Given the description of an element on the screen output the (x, y) to click on. 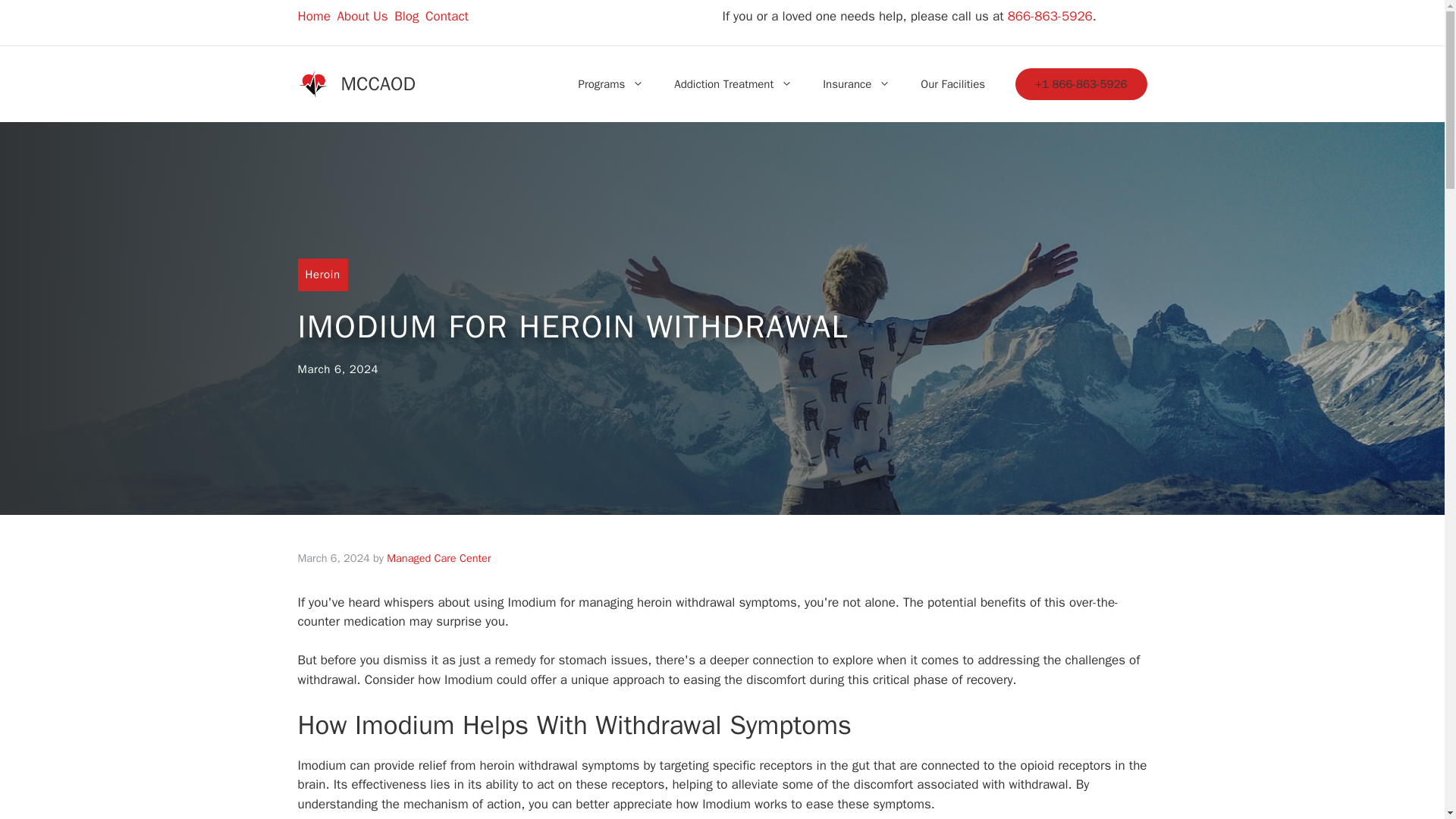
Addiction Treatment (733, 84)
Contact (446, 16)
View all posts by Managed Care Center (438, 558)
About Us (361, 16)
Home (313, 16)
Blog (406, 16)
866-863-5926 (1050, 16)
Insurance (856, 84)
Programs (611, 84)
MCCAOD (377, 83)
